Given the description of an element on the screen output the (x, y) to click on. 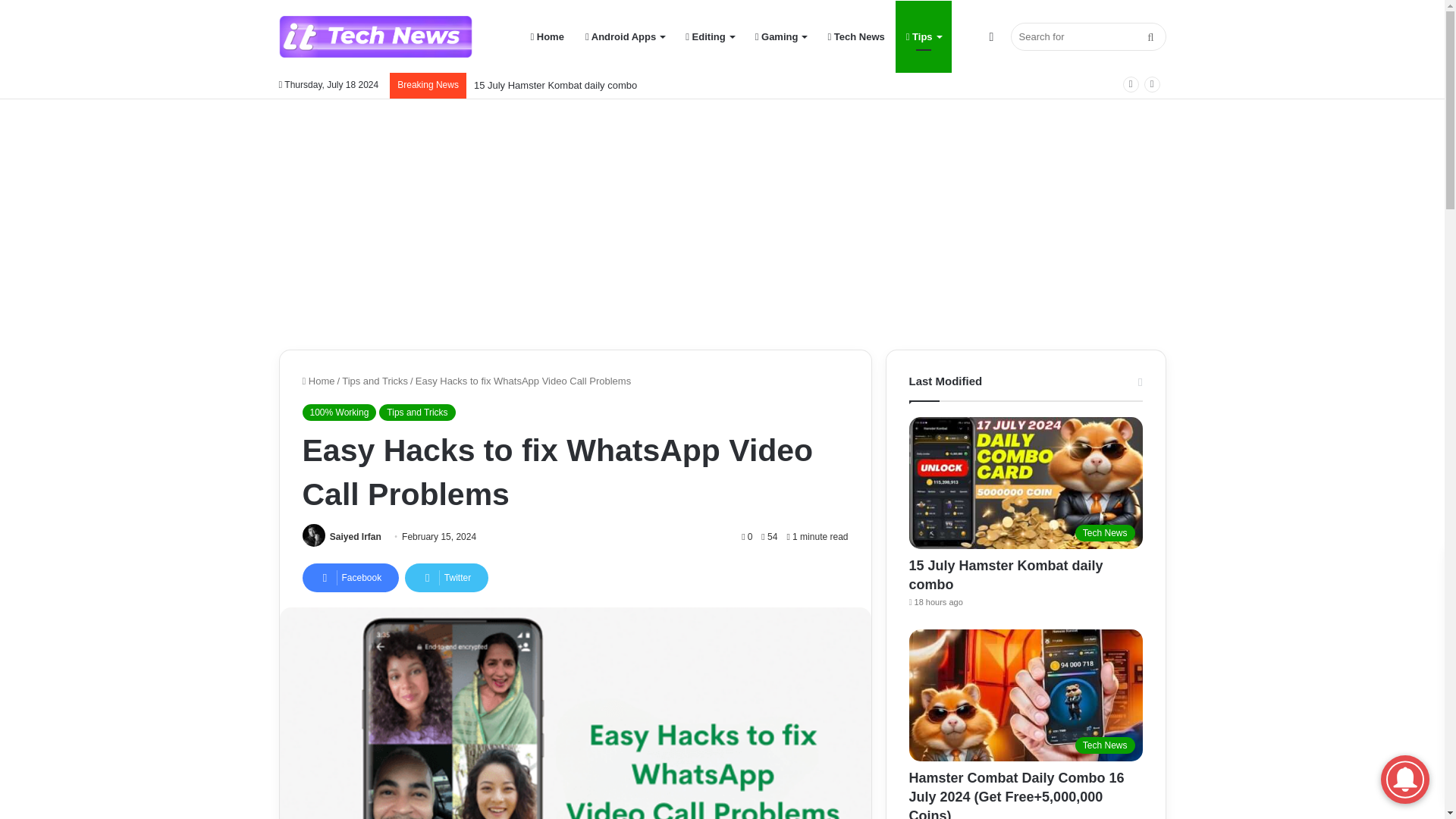
Search for (1088, 36)
Facebook (349, 577)
15 July Hamster Kombat daily combo (555, 84)
Facebook (349, 577)
Tips (923, 36)
Editing (709, 36)
Switch skin (991, 36)
Home (317, 380)
Tips and Tricks (416, 412)
Tips and Tricks (374, 380)
iTech (375, 36)
Twitter (445, 577)
Gaming (780, 36)
Twitter (445, 577)
Tech News (855, 36)
